Given the description of an element on the screen output the (x, y) to click on. 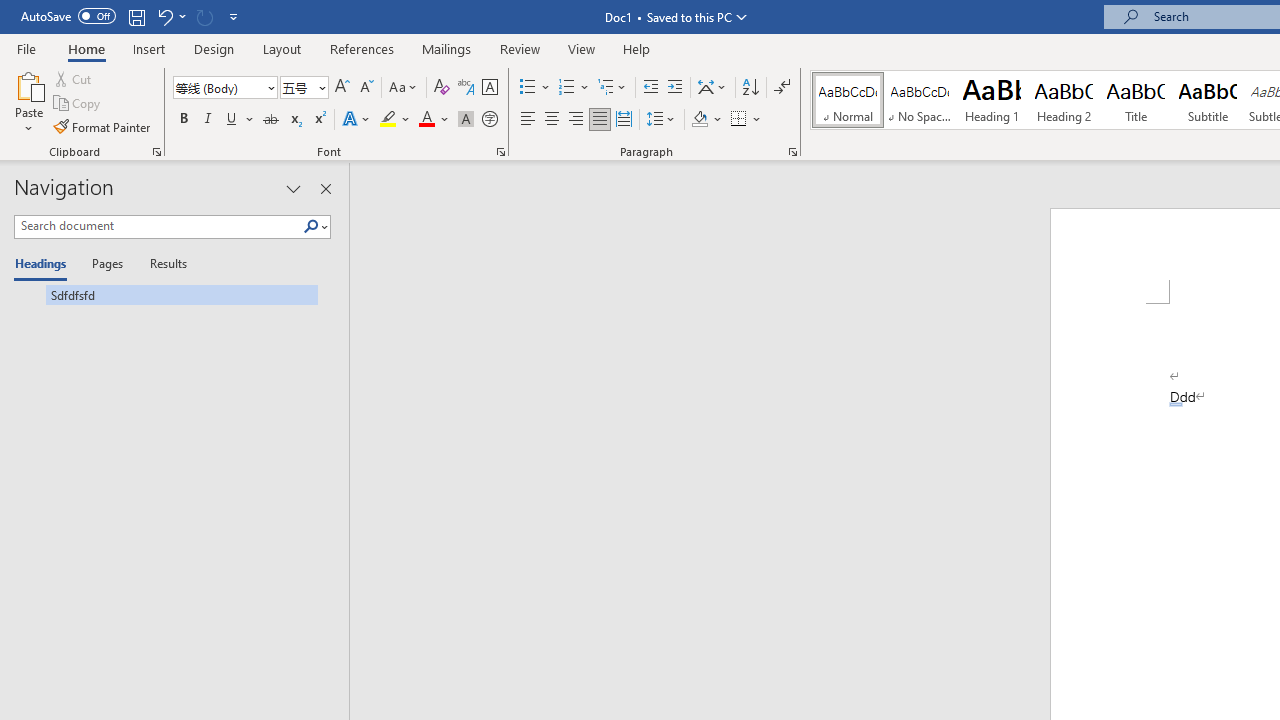
Quick Access Toolbar (131, 16)
Underline (232, 119)
System (10, 11)
Superscript (319, 119)
Clear Formatting (442, 87)
Sdfdfsfd (166, 294)
Center (552, 119)
Decrease Indent (650, 87)
Font Color Red (426, 119)
Multilevel List (613, 87)
Search (311, 227)
Font Size (304, 87)
View (582, 48)
Underline (239, 119)
